Given the description of an element on the screen output the (x, y) to click on. 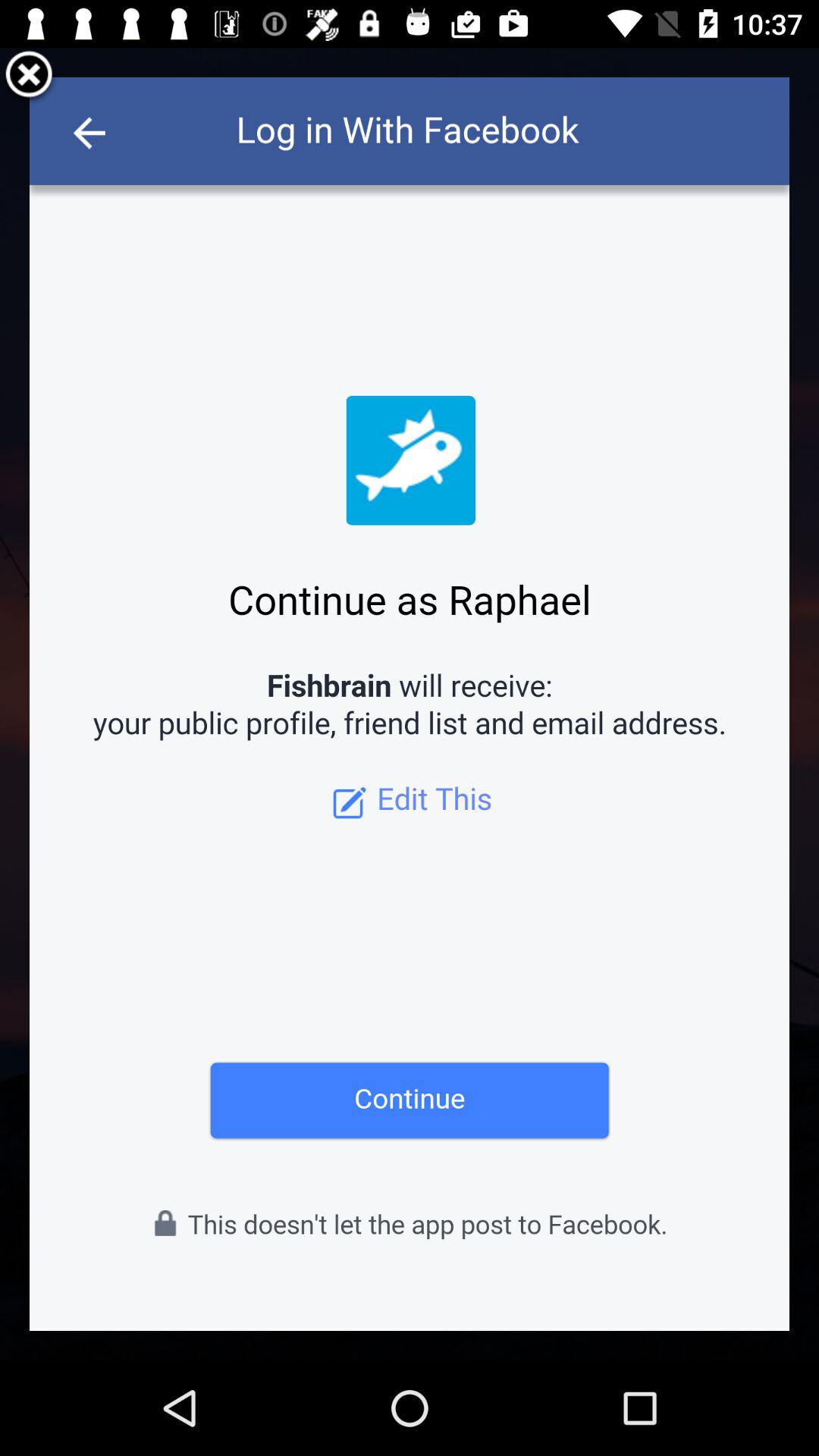
close window (29, 76)
